Given the description of an element on the screen output the (x, y) to click on. 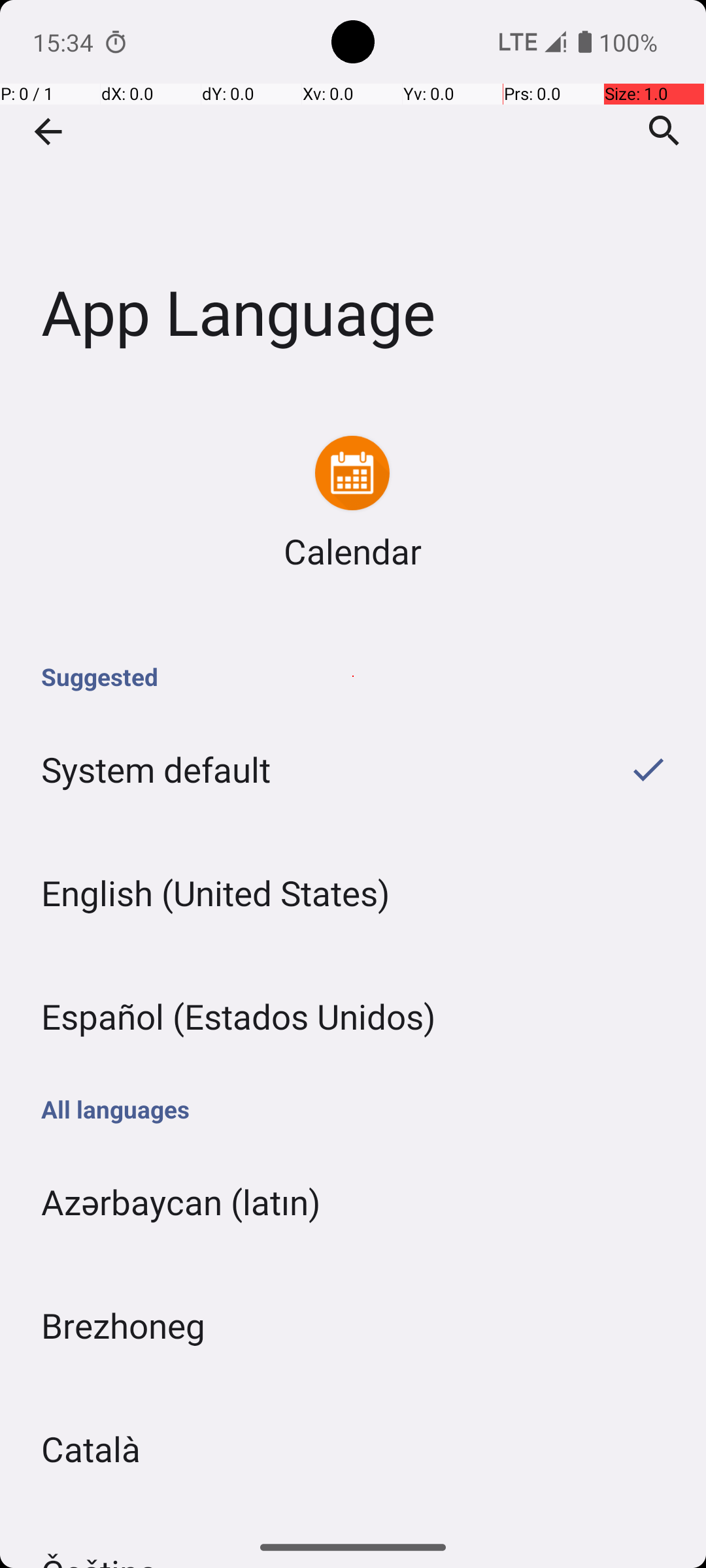
App Language Element type: android.widget.FrameLayout (353, 195)
Suggested Element type: android.widget.TextView (353, 676)
English (United States) Element type: android.widget.TextView (353, 892)
Español (Estados Unidos) Element type: android.widget.TextView (353, 1016)
All languages Element type: android.widget.TextView (353, 1109)
Azərbaycan (latın) Element type: android.widget.TextView (353, 1201)
Brezhoneg Element type: android.widget.TextView (353, 1325)
Català Element type: android.widget.TextView (353, 1448)
Čeština Element type: android.widget.TextView (353, 1518)
